Given the description of an element on the screen output the (x, y) to click on. 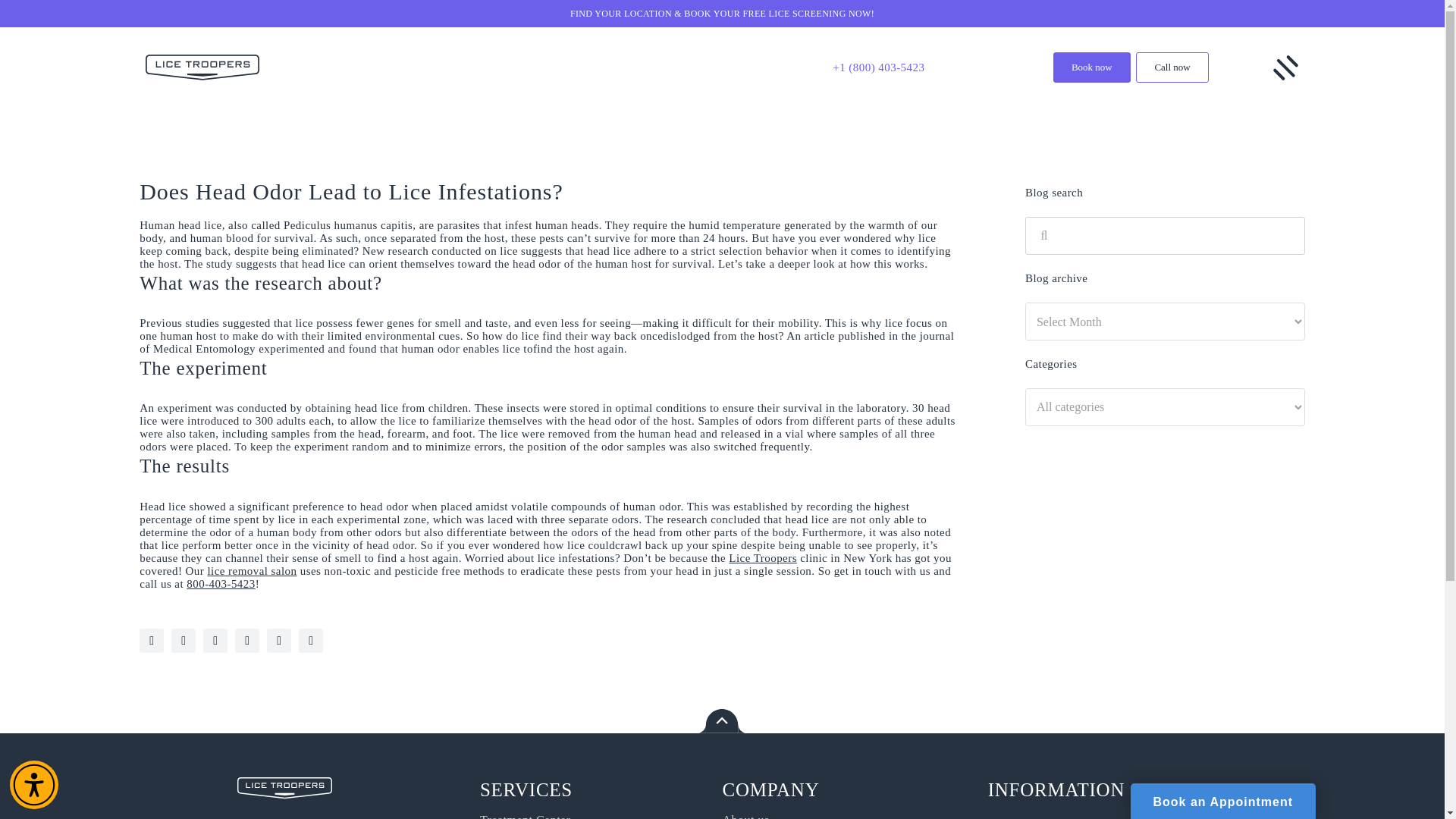
Book now (1091, 67)
Call now (1171, 67)
YouTube (151, 640)
X (215, 640)
Instagram (183, 640)
Pinterest (310, 640)
LinkedIn (278, 640)
Group 4 (1285, 67)
Accessibility Menu (34, 784)
Facebook (246, 640)
Group 914 (284, 788)
